Given the description of an element on the screen output the (x, y) to click on. 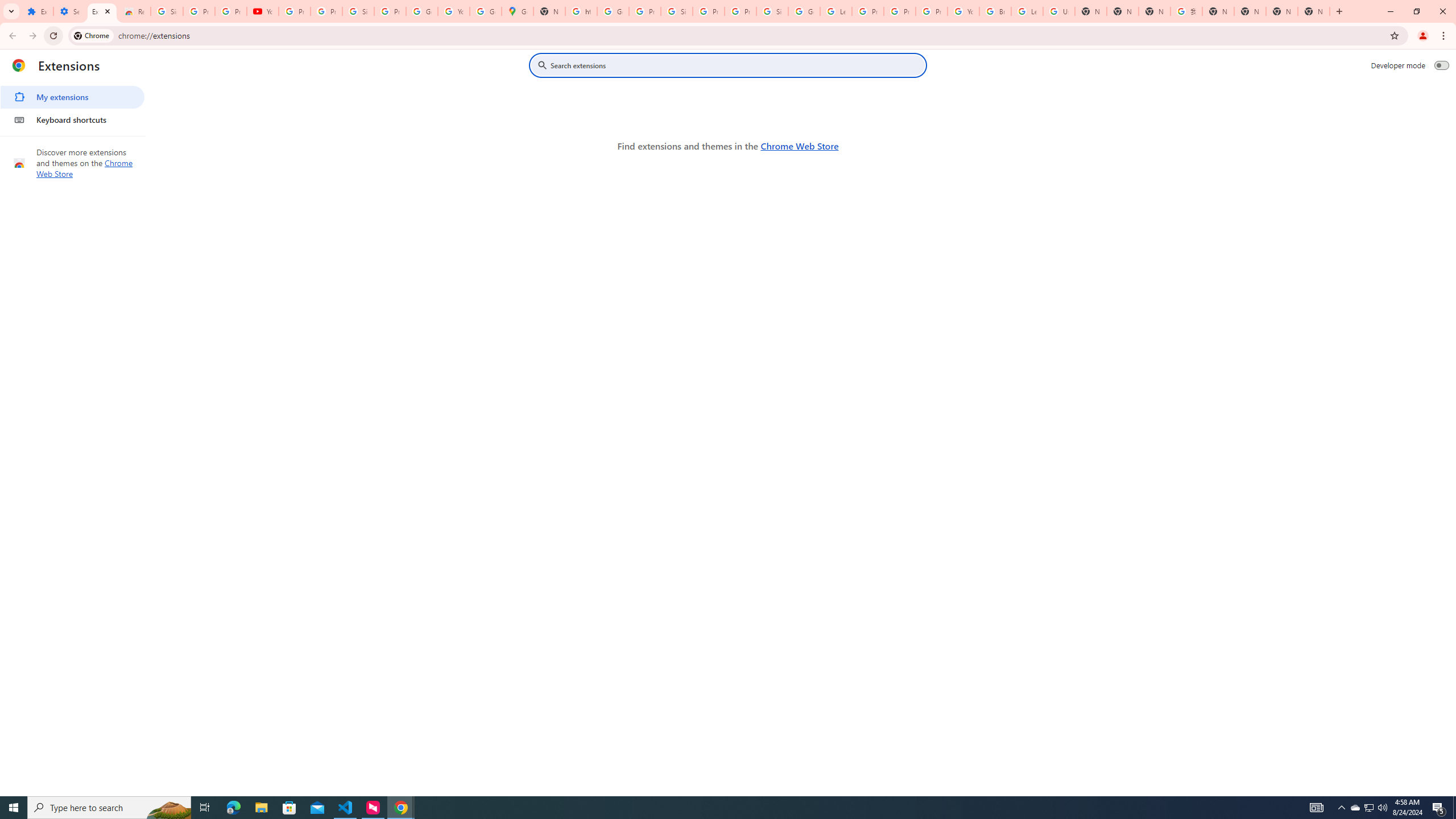
Google Maps (517, 11)
YouTube (262, 11)
Reviews: Helix Fruit Jump Arcade Game (134, 11)
Extensions (37, 11)
